Given the description of an element on the screen output the (x, y) to click on. 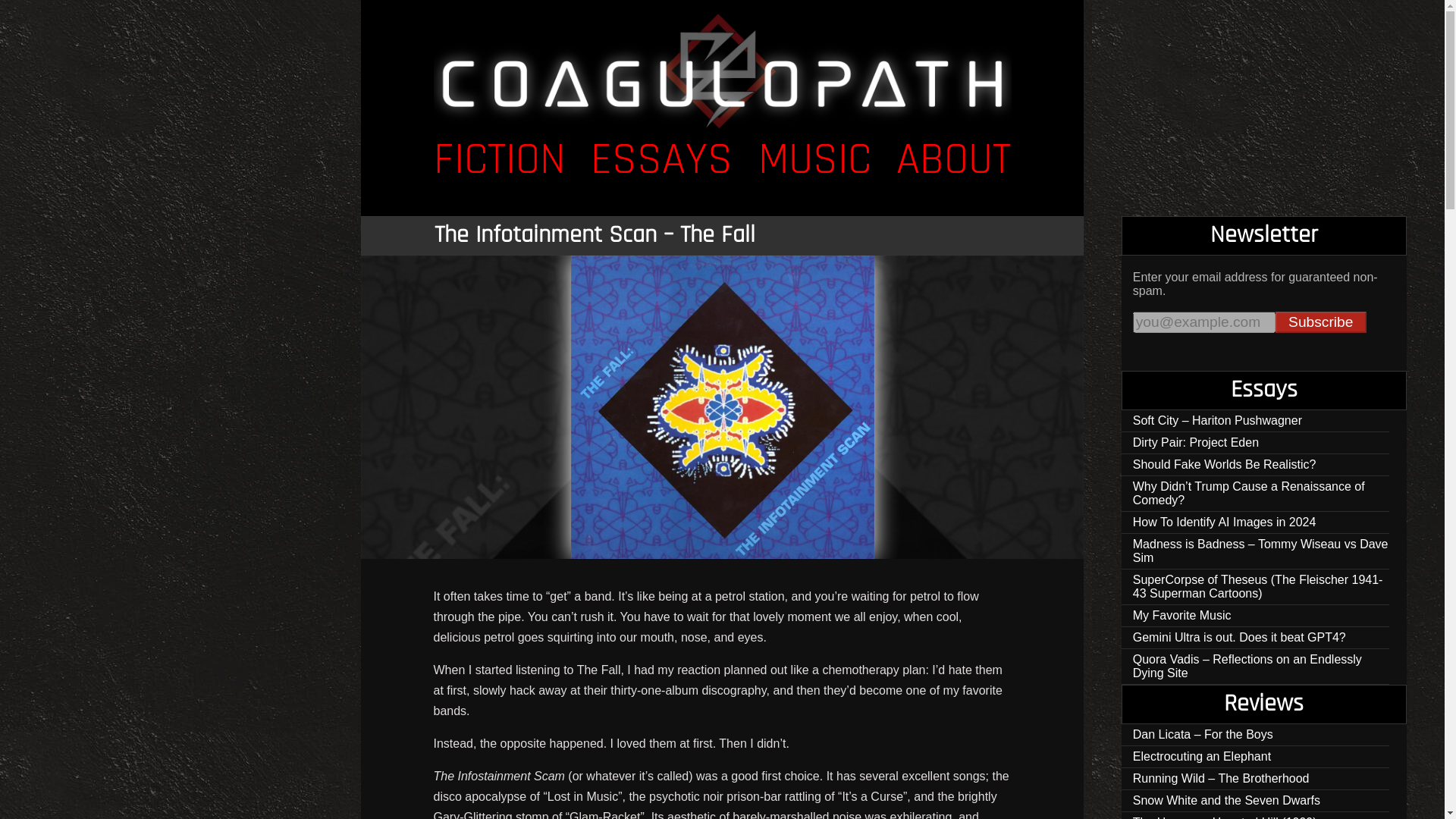
My Favorite Music (1255, 616)
ESSAYS (661, 161)
Dirty Pair: Project Eden (1255, 443)
Subscribe (1321, 322)
How To Identify AI Images in 2024 (1255, 522)
Gemini Ultra is out. Does it beat GPT4? (1255, 638)
Should Fake Worlds Be Realistic? (1255, 464)
FICTION (499, 161)
MUSIC (814, 161)
Subscribe (1321, 322)
Electrocuting an Elephant (1255, 757)
Snow White and the Seven Dwarfs (1255, 801)
ABOUT (953, 161)
